Given the description of an element on the screen output the (x, y) to click on. 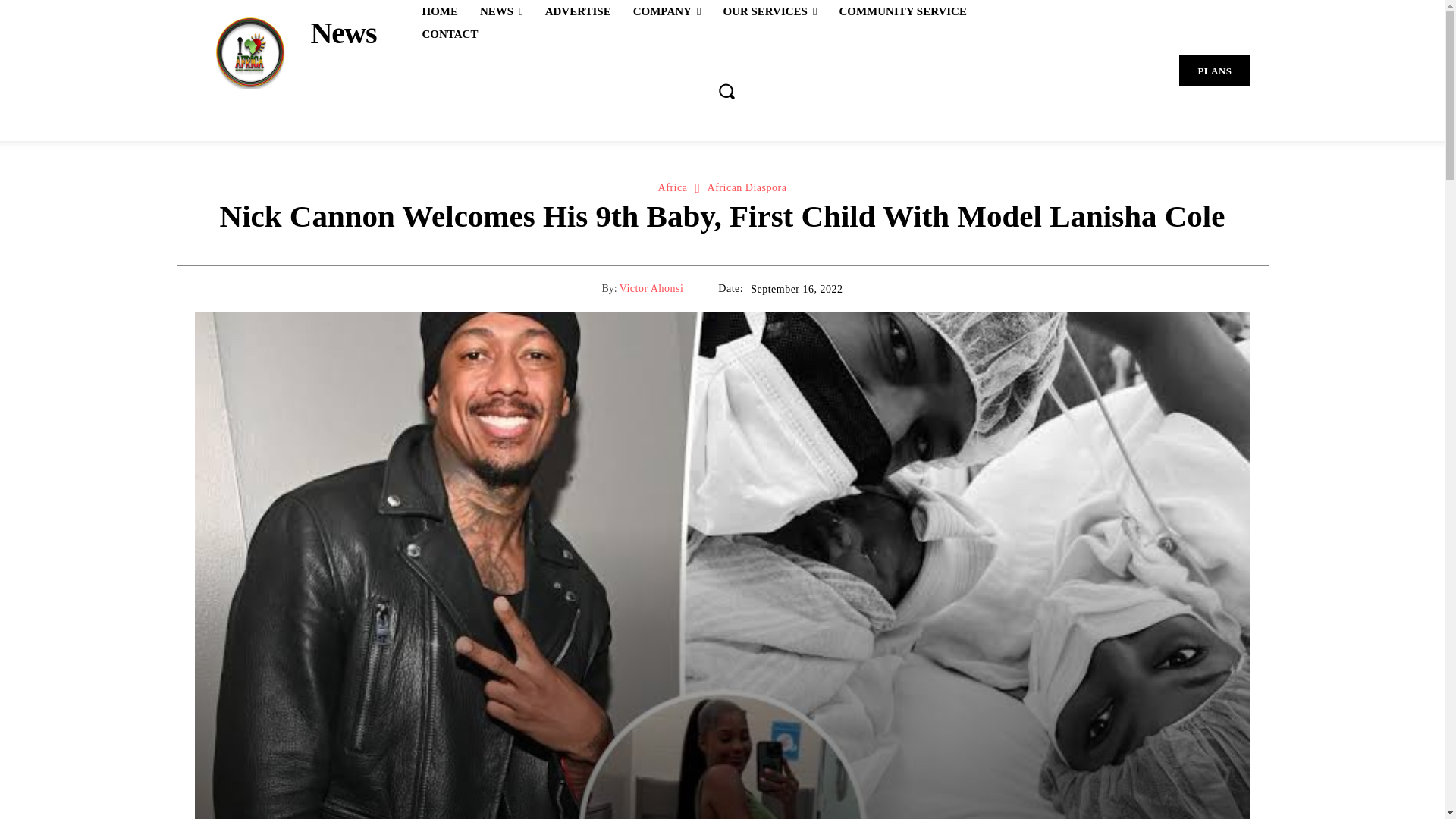
NEWS (501, 11)
News (284, 51)
Plans (1214, 70)
HOME (439, 11)
